Given the description of an element on the screen output the (x, y) to click on. 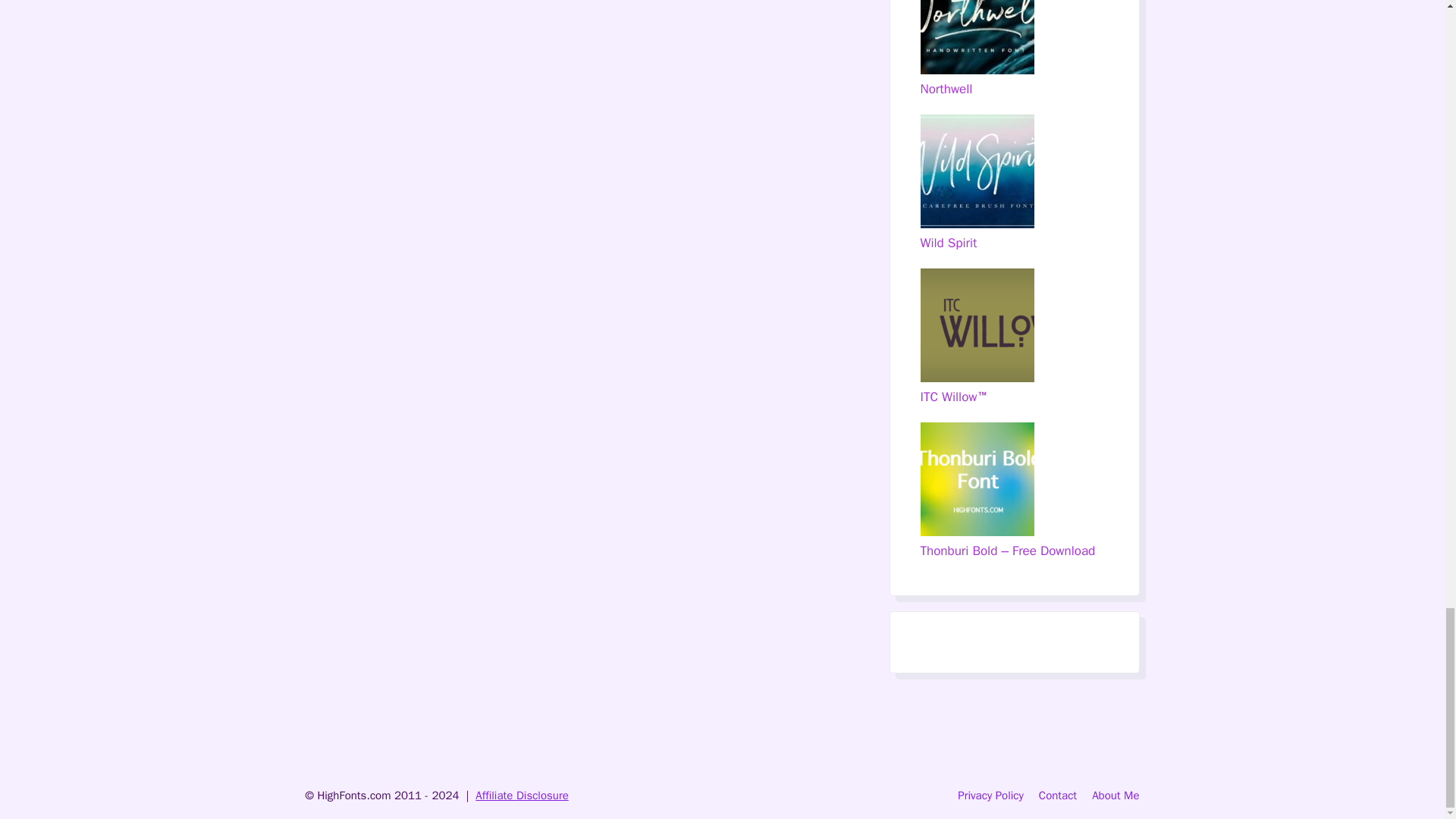
Advertisement (721, 730)
